Given the description of an element on the screen output the (x, y) to click on. 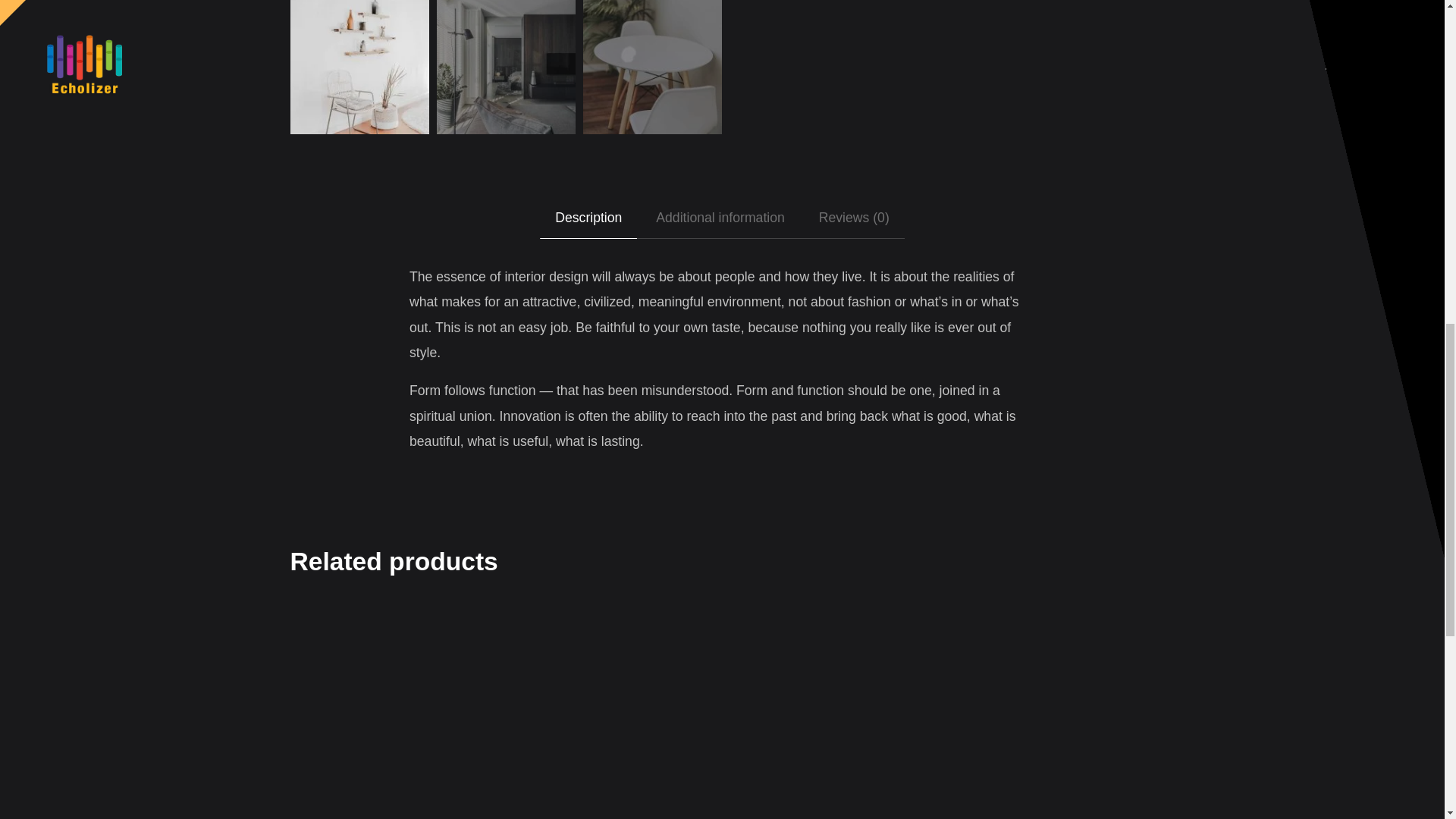
Description (587, 218)
Additional information (720, 218)
